Given the description of an element on the screen output the (x, y) to click on. 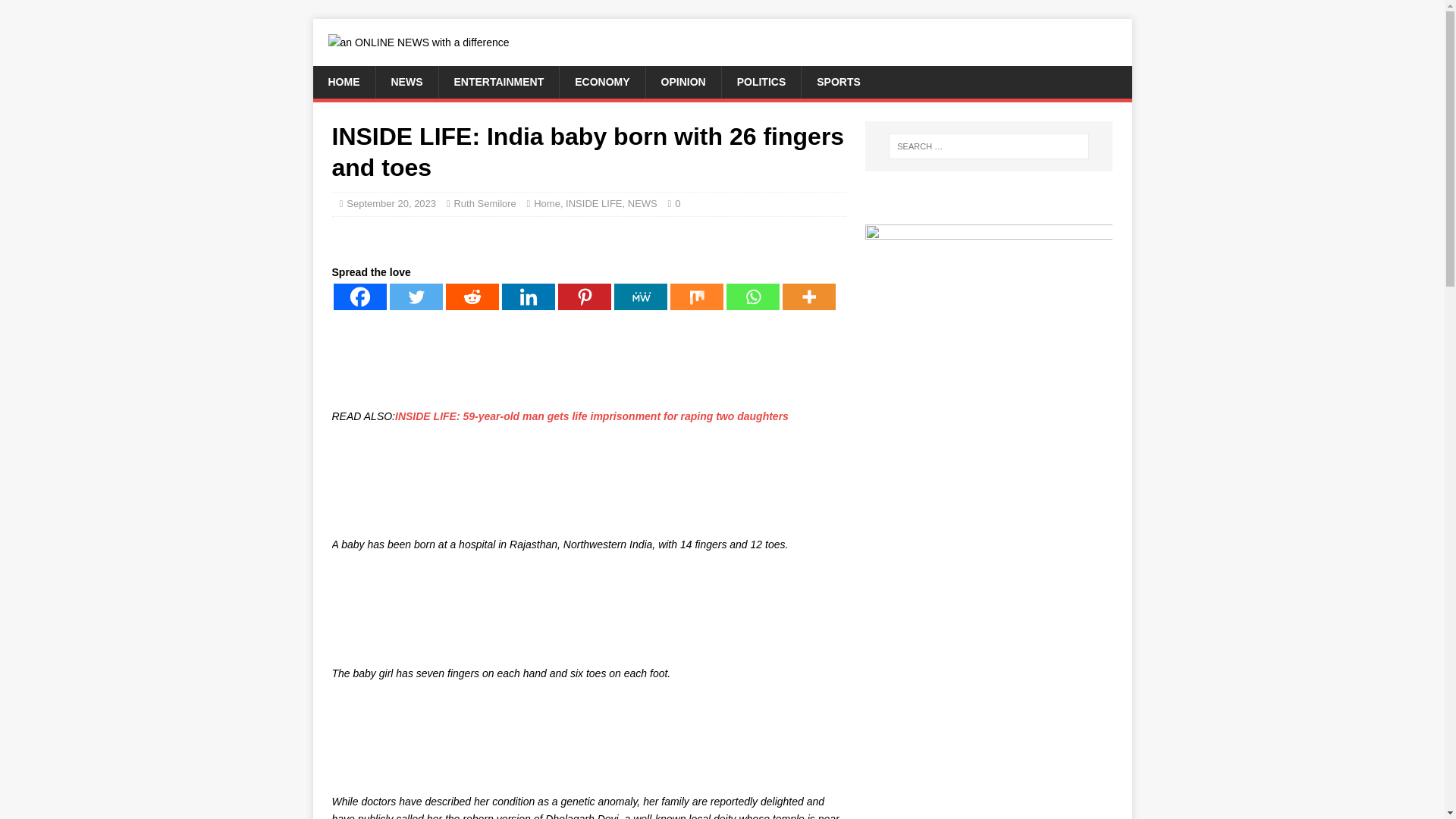
Home (547, 203)
Mix (696, 296)
POLITICS (761, 81)
NEWS (406, 81)
More (809, 296)
Reddit (472, 296)
MeWe (640, 296)
Pinterest (584, 296)
INSIDE LIFE (593, 203)
